Given the description of an element on the screen output the (x, y) to click on. 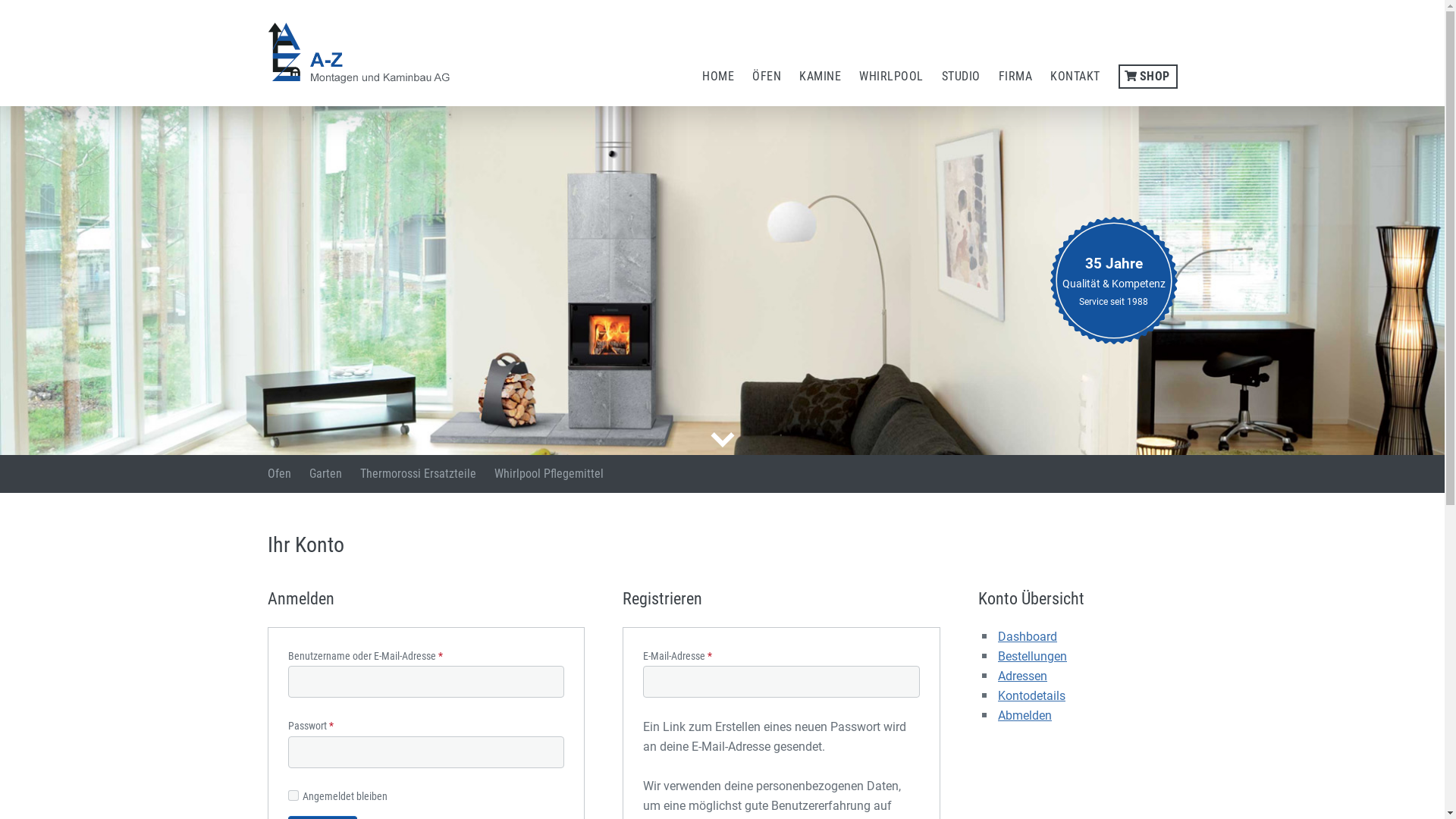
Garten Element type: text (325, 473)
Kontodetails Element type: text (1031, 695)
A-Z Montagen und Kaminbau AG Home Element type: hover (361, 52)
FIRMA Element type: text (1014, 76)
Bestellungen Element type: text (1031, 656)
Adressen Element type: text (1022, 675)
Dashboard Element type: text (1027, 636)
SHOP Element type: text (1146, 76)
Thermorossi Ersatzteile Element type: text (417, 473)
Zum Inhalt Element type: hover (721, 439)
STUDIO Element type: text (960, 76)
Ofen Element type: text (278, 473)
  Element type: text (721, 439)
Whirlpool Pflegemittel Element type: text (548, 473)
KAMINE Element type: text (819, 76)
KONTAKT Element type: text (1075, 76)
HOME Element type: text (718, 76)
Abmelden Element type: text (1024, 715)
WHIRLPOOL Element type: text (891, 76)
